Given the description of an element on the screen output the (x, y) to click on. 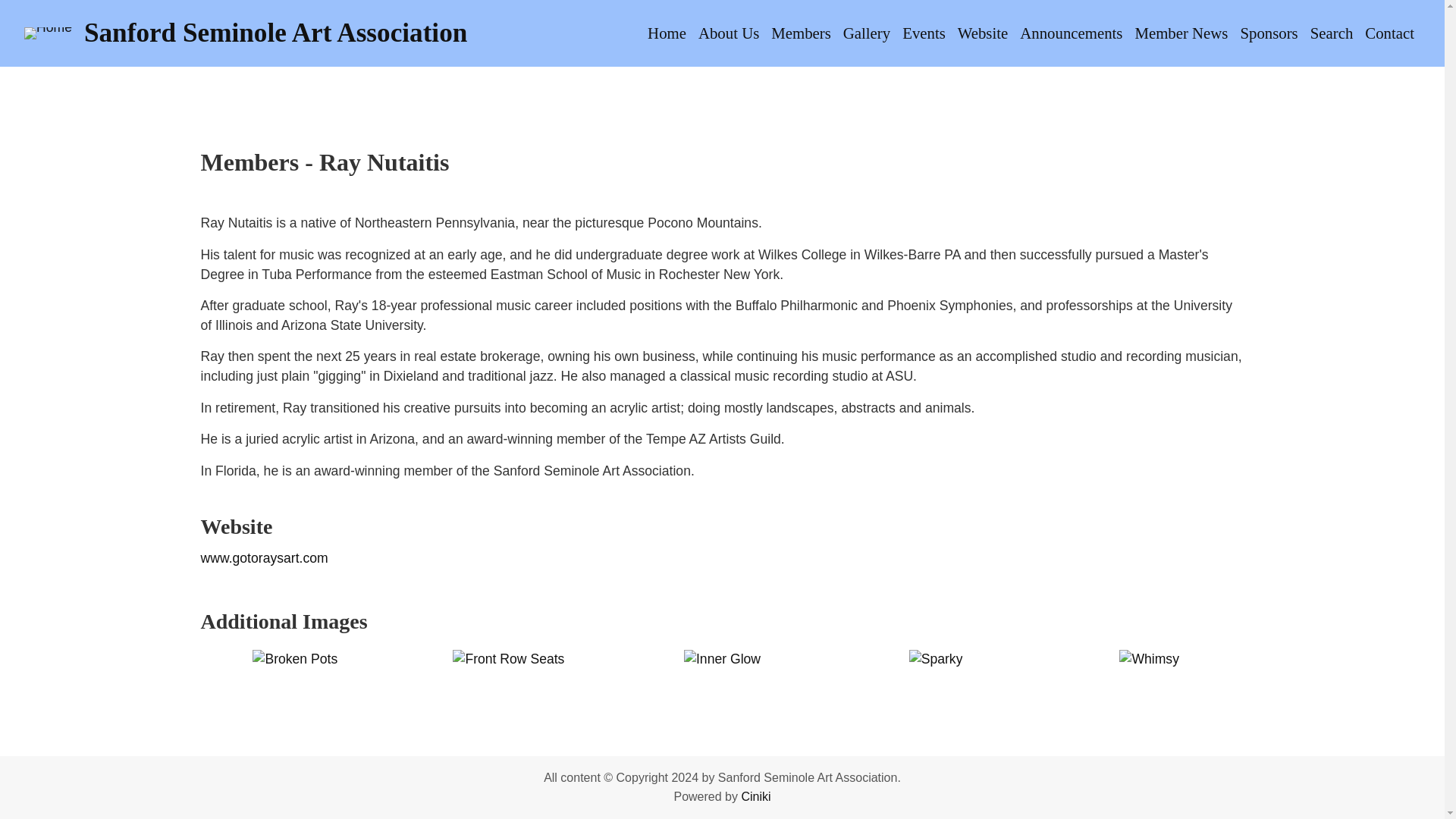
www.gotoraysart.com (263, 557)
Sanford Seminole Art Association (275, 32)
Sanford Seminole Art Association (275, 32)
Broken Pots (294, 659)
Whimsy (1149, 659)
Sparky (935, 659)
Search (1332, 32)
About Us (728, 32)
Home (666, 32)
www.gotoraysart.com (263, 557)
